Given the description of an element on the screen output the (x, y) to click on. 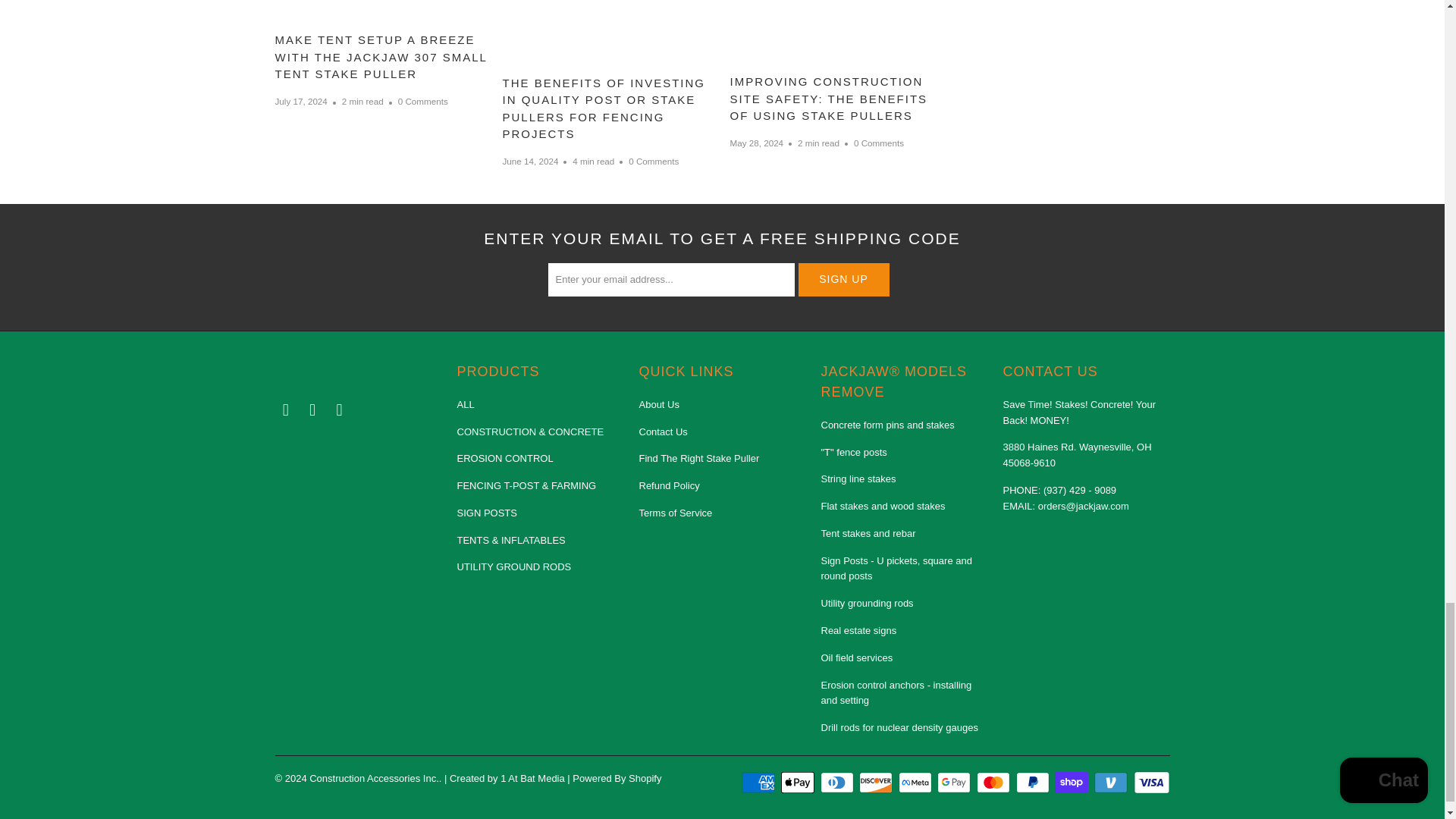
Mastercard (994, 782)
Venmo (1112, 782)
Apple Pay (798, 782)
American Express (759, 782)
Diners Club (839, 782)
Sign Up (842, 279)
PayPal (1034, 782)
Shop Pay (1072, 782)
Meta Pay (916, 782)
Visa (1150, 782)
